Given the description of an element on the screen output the (x, y) to click on. 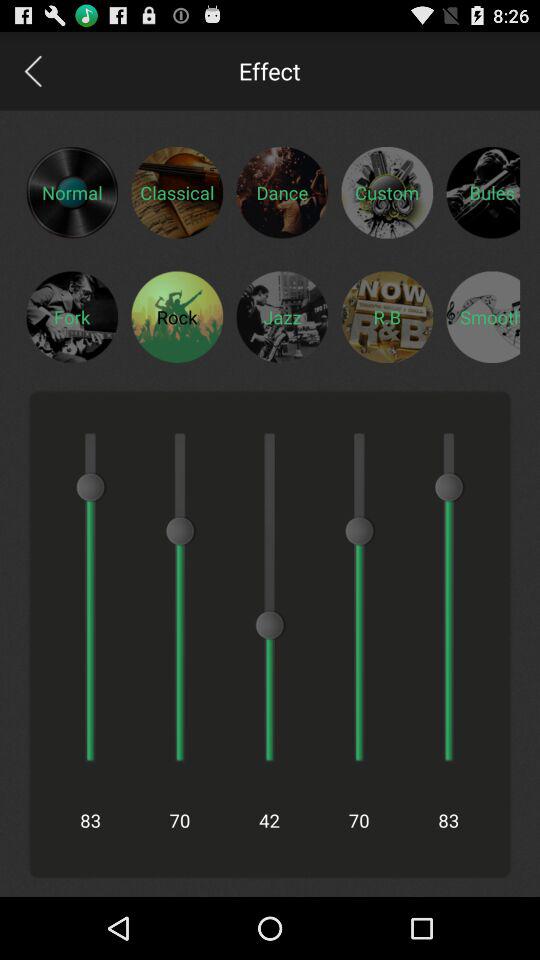
turn off app below effect (282, 191)
